Given the description of an element on the screen output the (x, y) to click on. 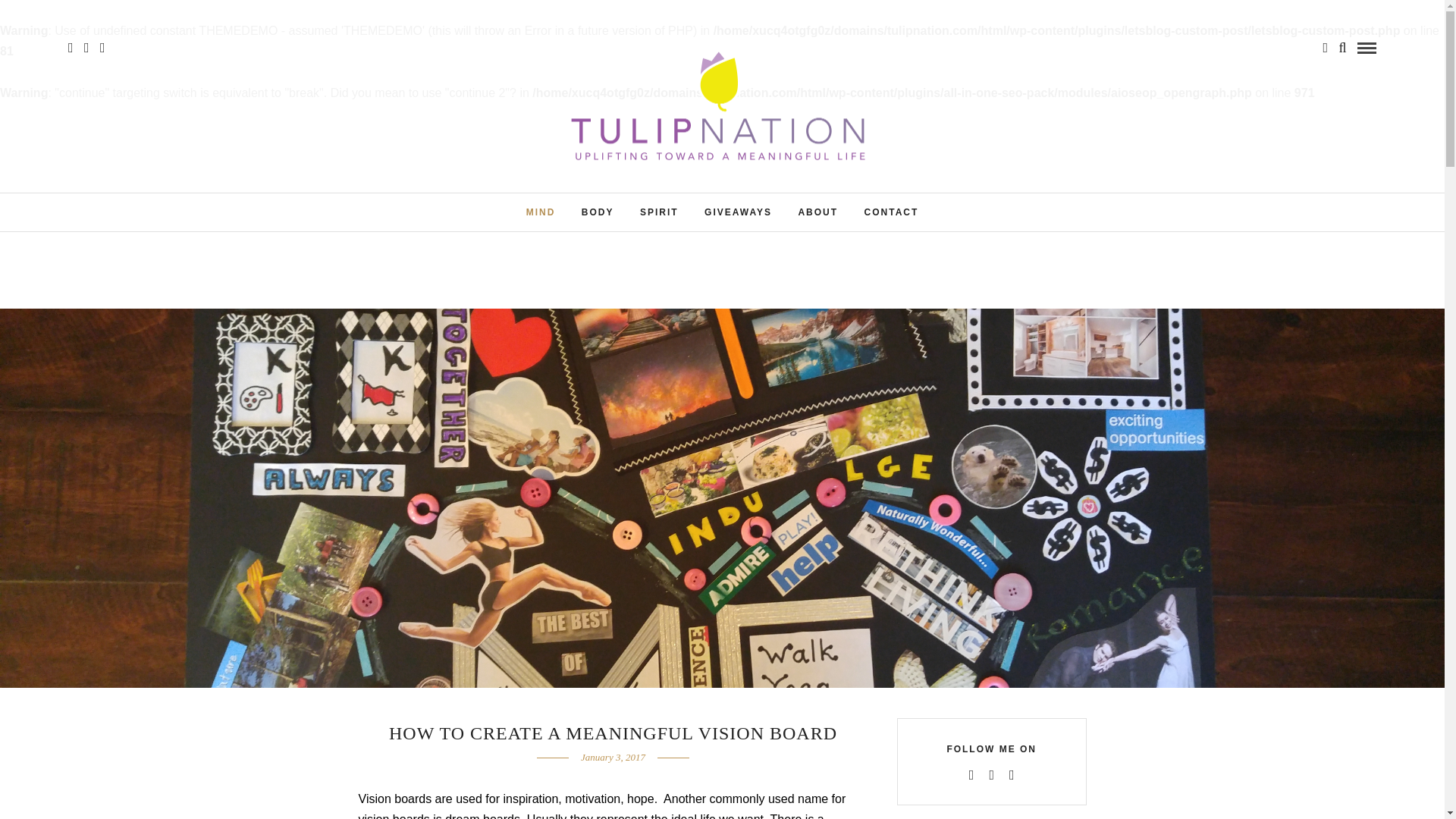
CONTACT (891, 211)
GIVEAWAYS (738, 211)
ABOUT (817, 211)
BODY (598, 211)
SPIRIT (659, 211)
MIND (541, 211)
